Given the description of an element on the screen output the (x, y) to click on. 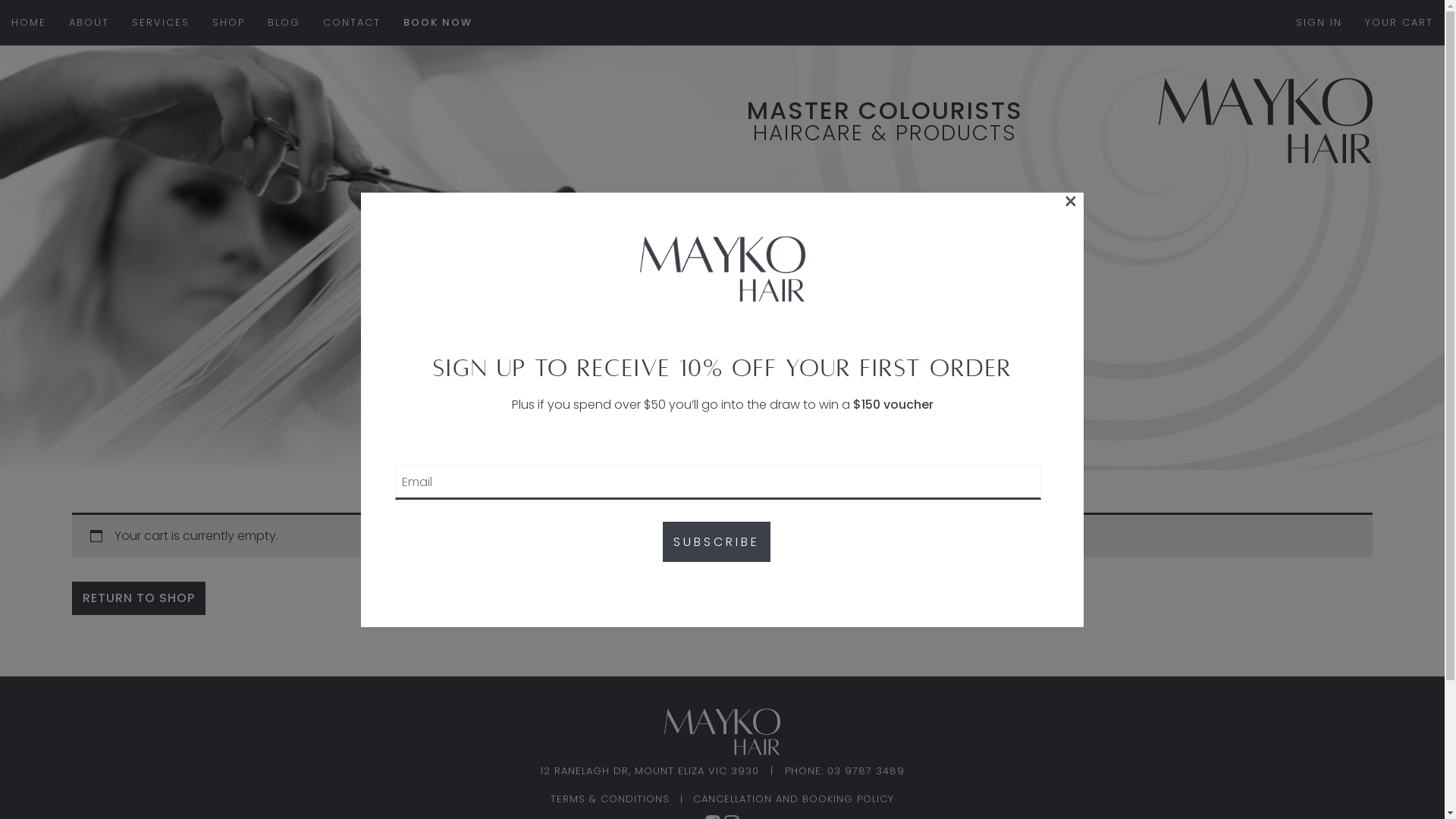
ABOUT Element type: text (88, 22)
SHOP Element type: text (228, 22)
BOOK NOW Element type: text (437, 22)
CONTACT Element type: text (351, 22)
SERVICES Element type: text (160, 22)
TERMS & CONDITIONS Element type: text (609, 799)
CANCELLATION AND BOOKING POLICY Element type: text (793, 799)
Subscribe Element type: text (716, 540)
HOME Element type: text (28, 22)
RETURN TO SHOP Element type: text (138, 598)
BLOG Element type: text (283, 22)
SIGN IN Element type: text (1318, 22)
YOUR CART Element type: text (1398, 22)
